Given the description of an element on the screen output the (x, y) to click on. 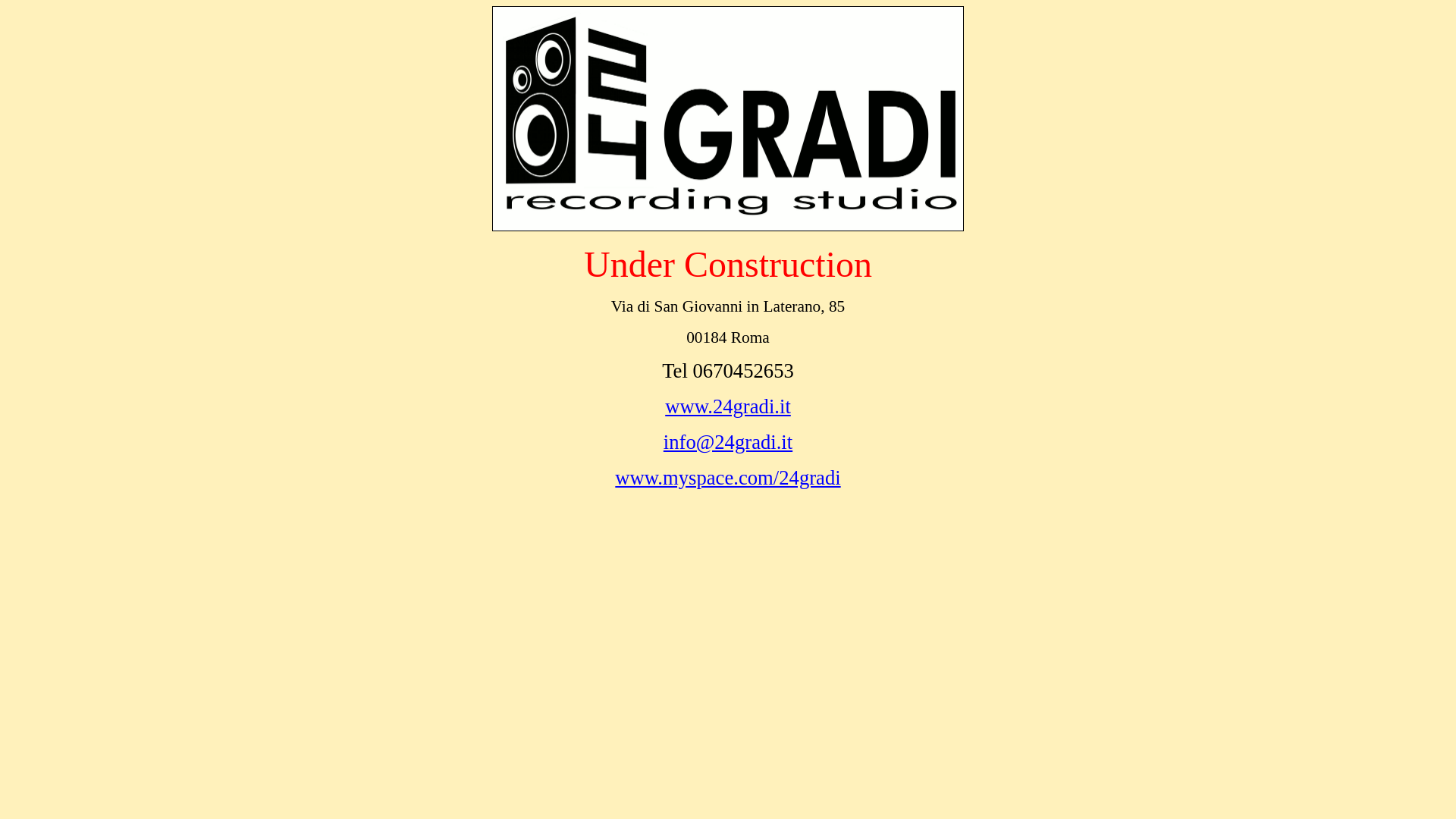
info@24gradi.it Element type: text (727, 441)
www.24gradi.it Element type: text (727, 406)
www.myspace.com/24gradi Element type: text (727, 477)
